Given the description of an element on the screen output the (x, y) to click on. 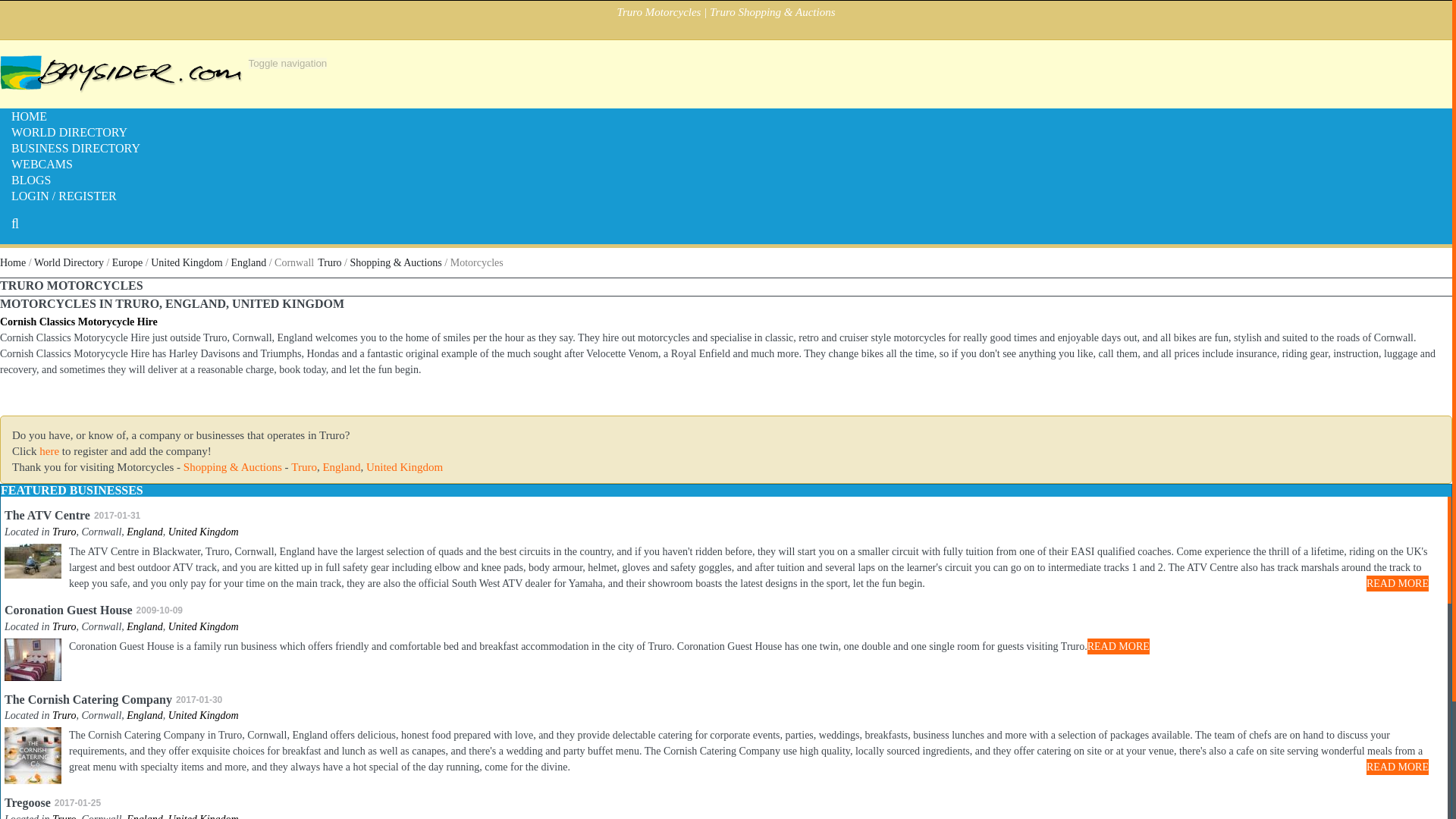
England (248, 262)
Truro (328, 262)
United Kingdom (203, 531)
Truro (304, 467)
Businesses and services in England (143, 531)
here (49, 451)
England (143, 715)
WEBCAMS (42, 163)
READ MORE (1397, 766)
Tregoose (27, 802)
England (248, 262)
The ATV Centre (47, 514)
Register (49, 451)
United Kingdom (203, 626)
